Given the description of an element on the screen output the (x, y) to click on. 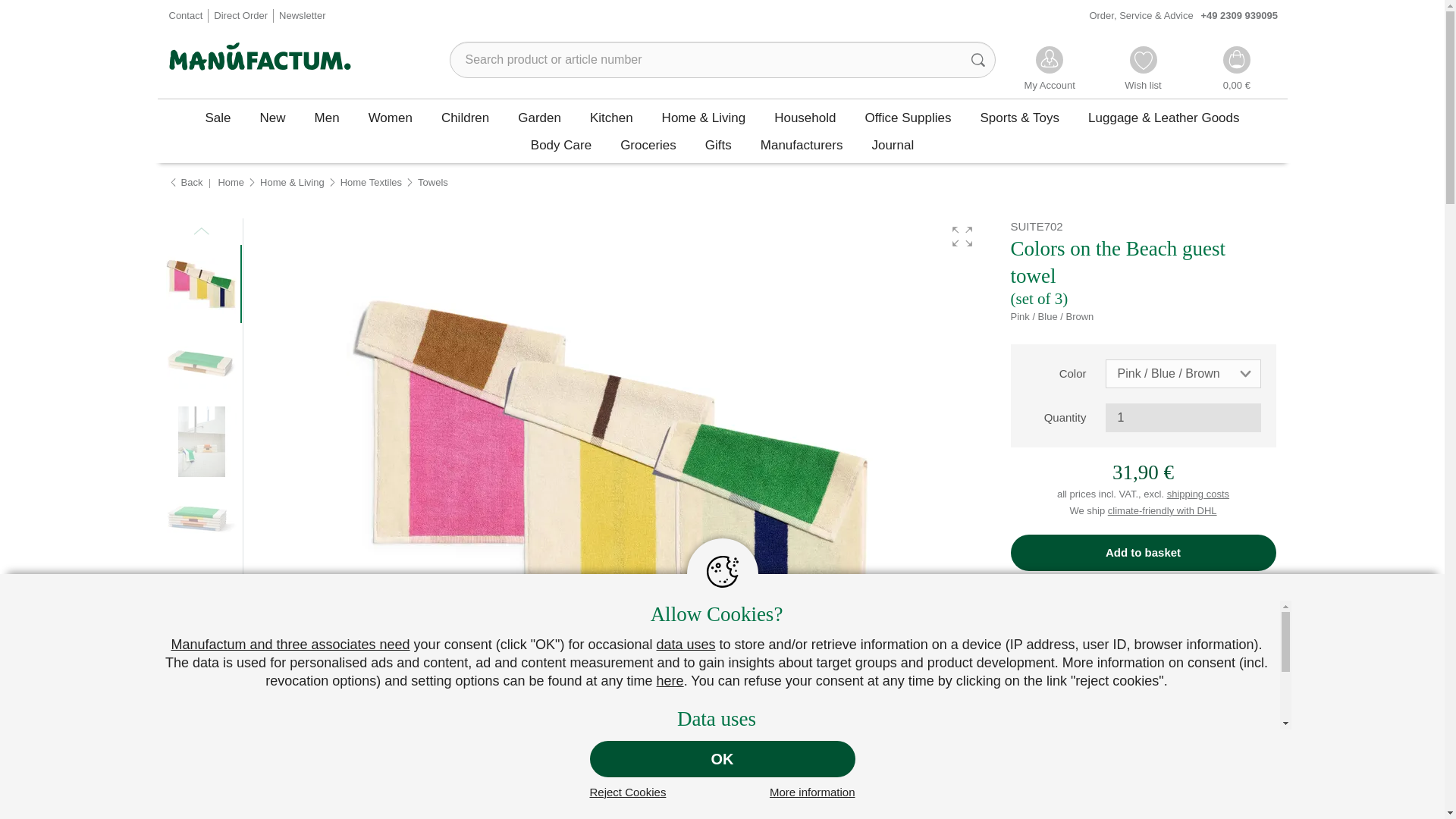
Contact (185, 16)
Direct Order (240, 16)
Newsletter (301, 16)
1 (1182, 417)
